Given the description of an element on the screen output the (x, y) to click on. 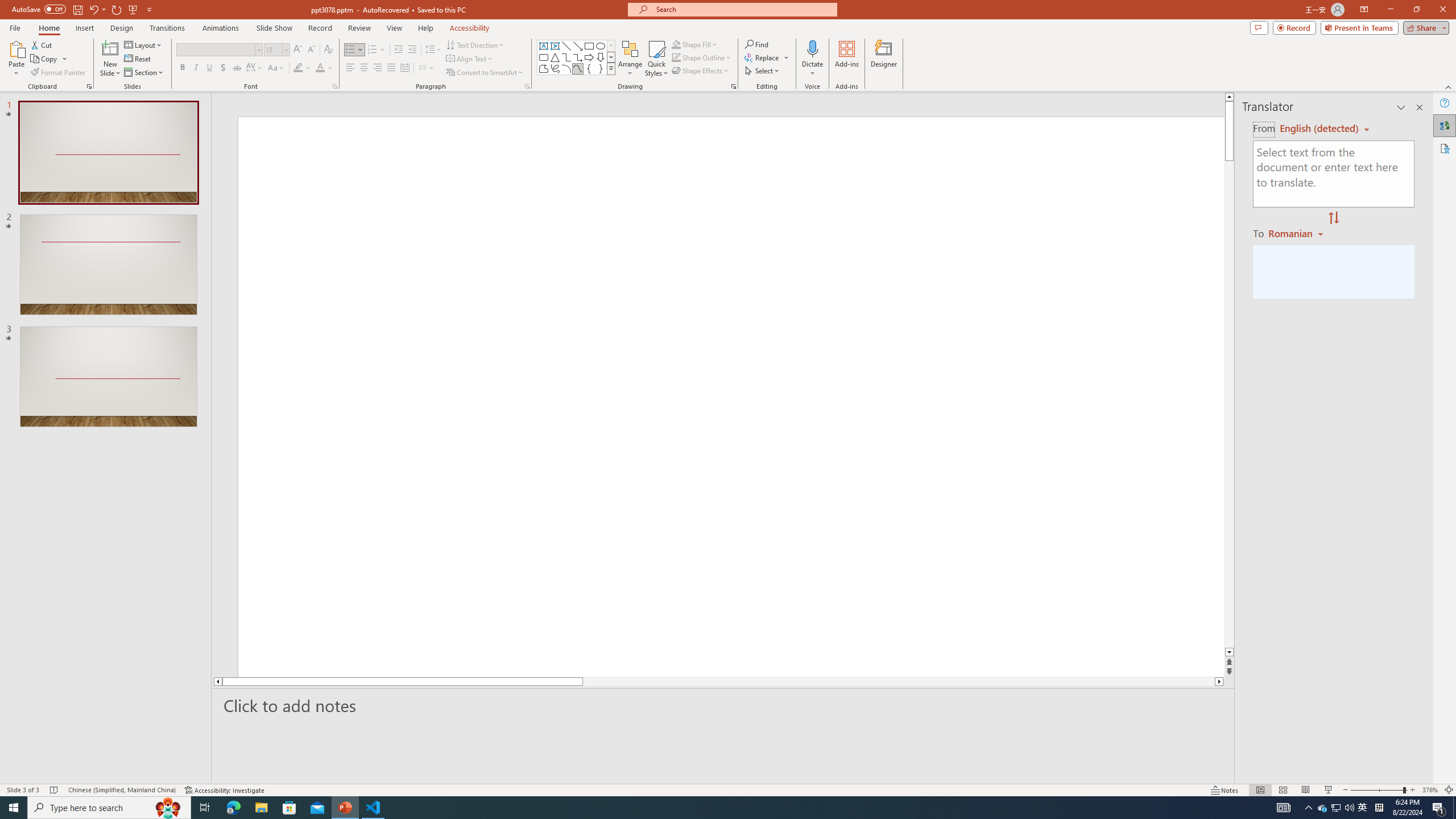
Isosceles Triangle (554, 57)
Line Arrow (577, 45)
Line Spacing (433, 49)
Center (363, 67)
Strikethrough (237, 67)
Czech (detected) (1319, 128)
Text Highlight Color (302, 67)
